Given the description of an element on the screen output the (x, y) to click on. 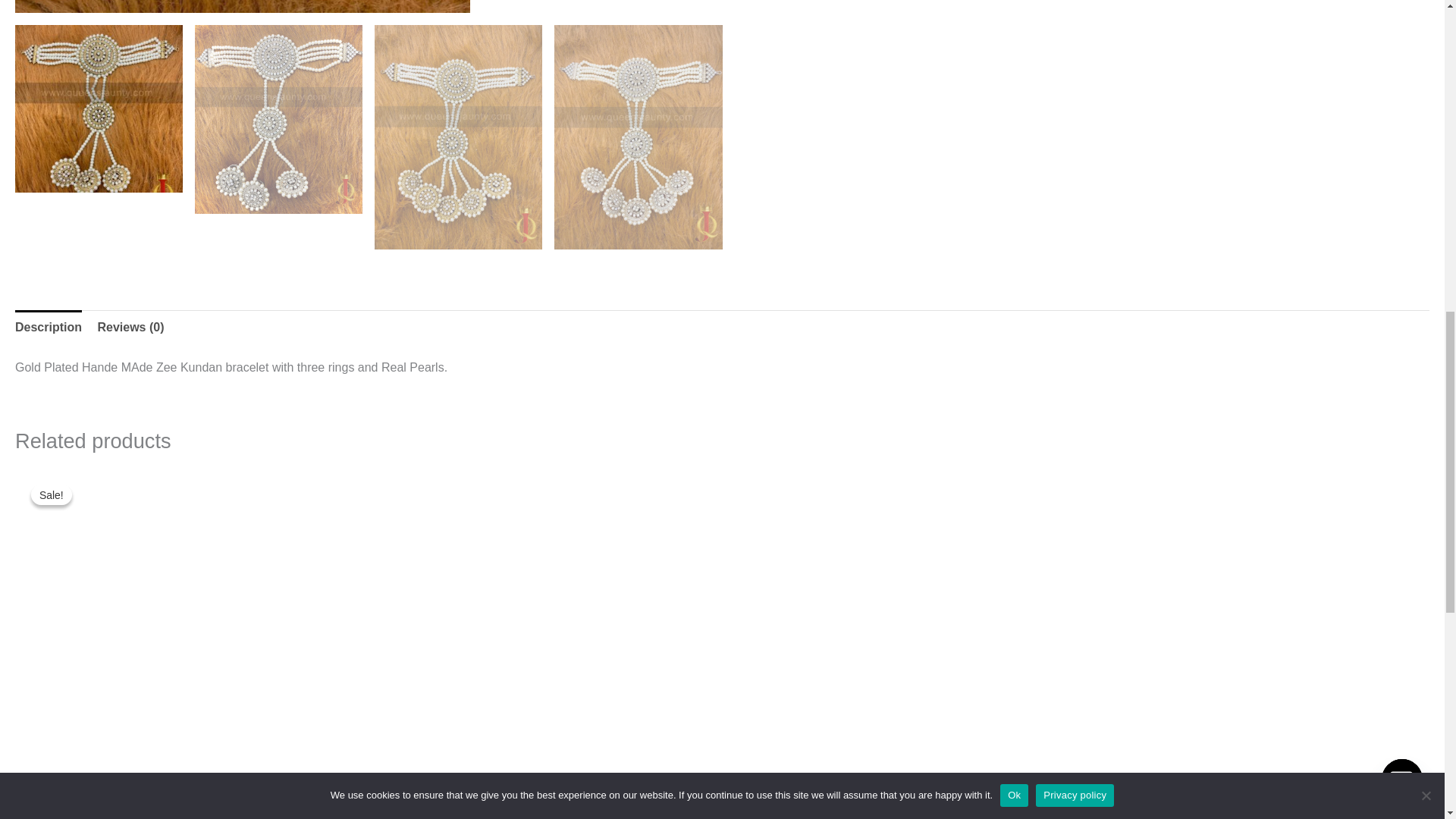
WhatsApp-Image-2021-03-23-at-11.52.20-AM.jpeg (242, 6)
